Given the description of an element on the screen output the (x, y) to click on. 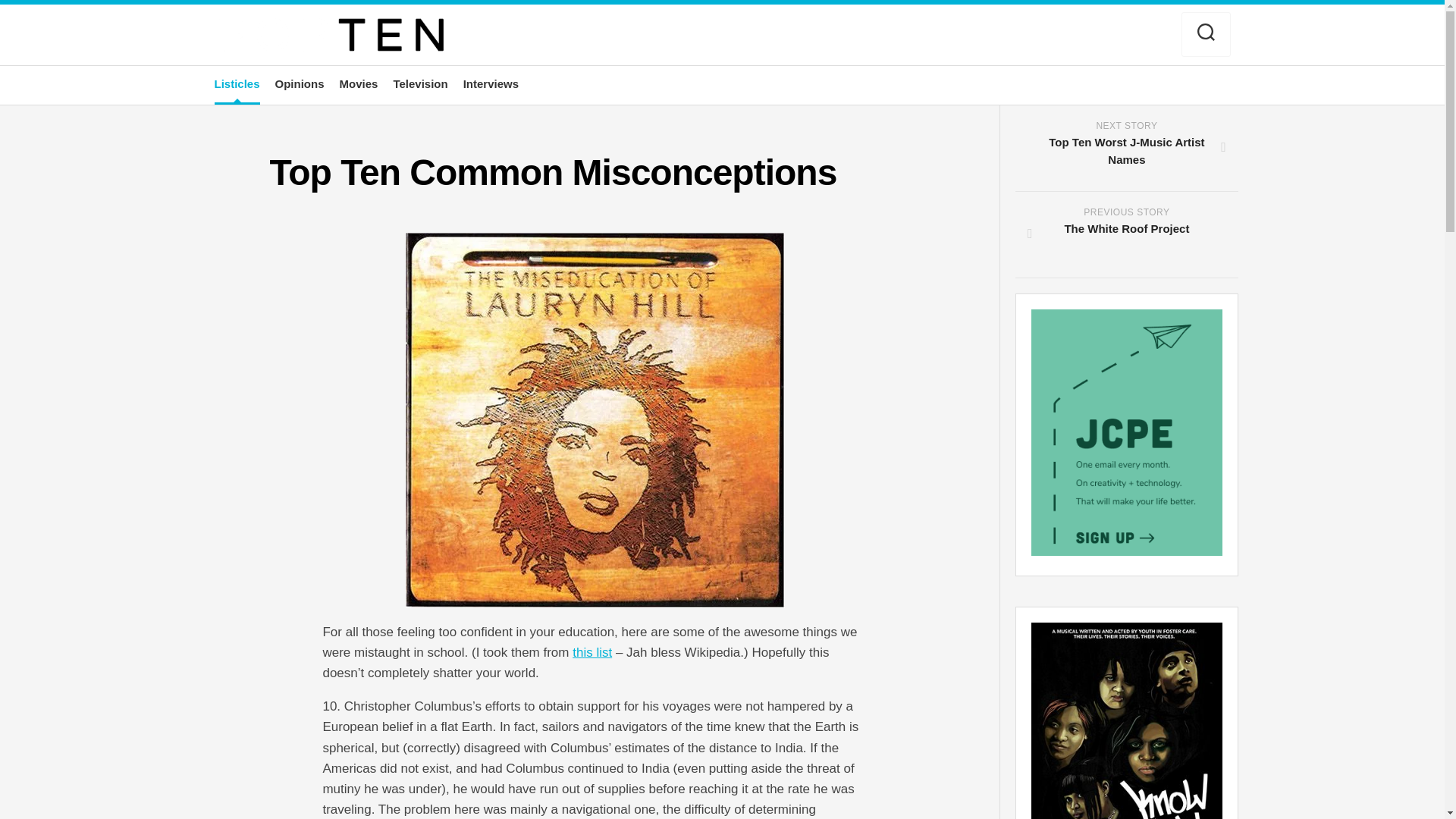
this list (591, 652)
Listicles (1125, 234)
Opinions (236, 83)
Television (299, 83)
Movies (419, 83)
Interviews (358, 83)
